Given the description of an element on the screen output the (x, y) to click on. 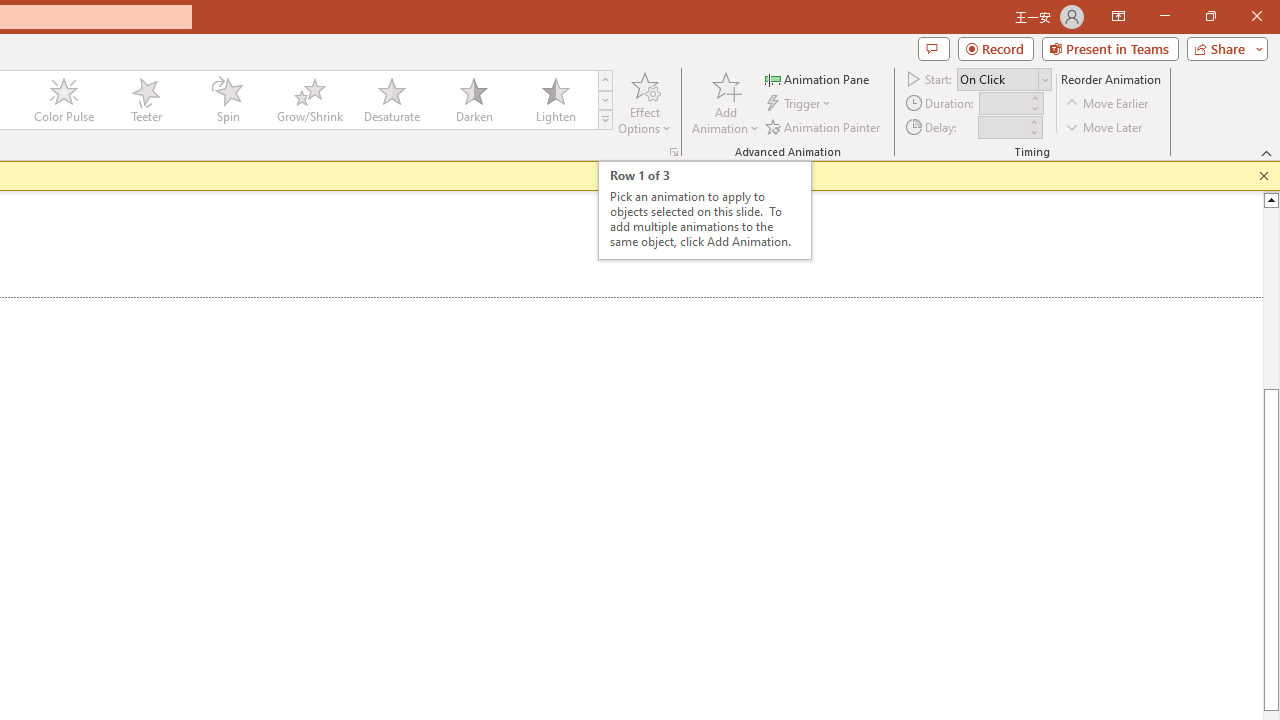
Class: NetUIImage (605, 119)
More (1033, 121)
Effect Options (644, 102)
Desaturate (391, 100)
Animation Styles (605, 120)
Move Later (1105, 126)
Darken (473, 100)
Less (1033, 132)
Move Earlier (1107, 103)
